Given the description of an element on the screen output the (x, y) to click on. 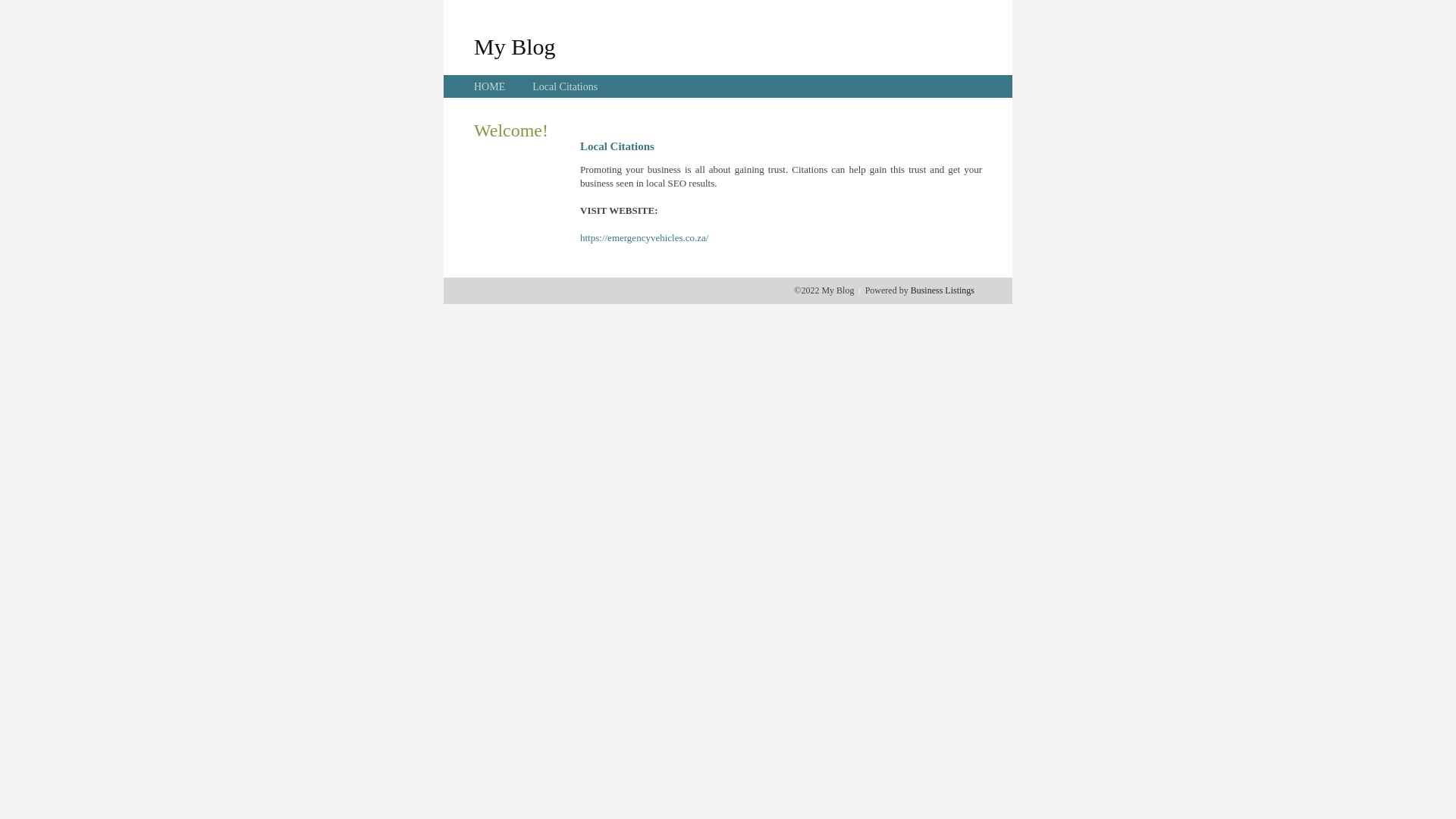
Local Citations Element type: text (564, 86)
My Blog Element type: text (514, 46)
https://emergencyvehicles.co.za/ Element type: text (644, 237)
HOME Element type: text (489, 86)
Business Listings Element type: text (942, 290)
